Given the description of an element on the screen output the (x, y) to click on. 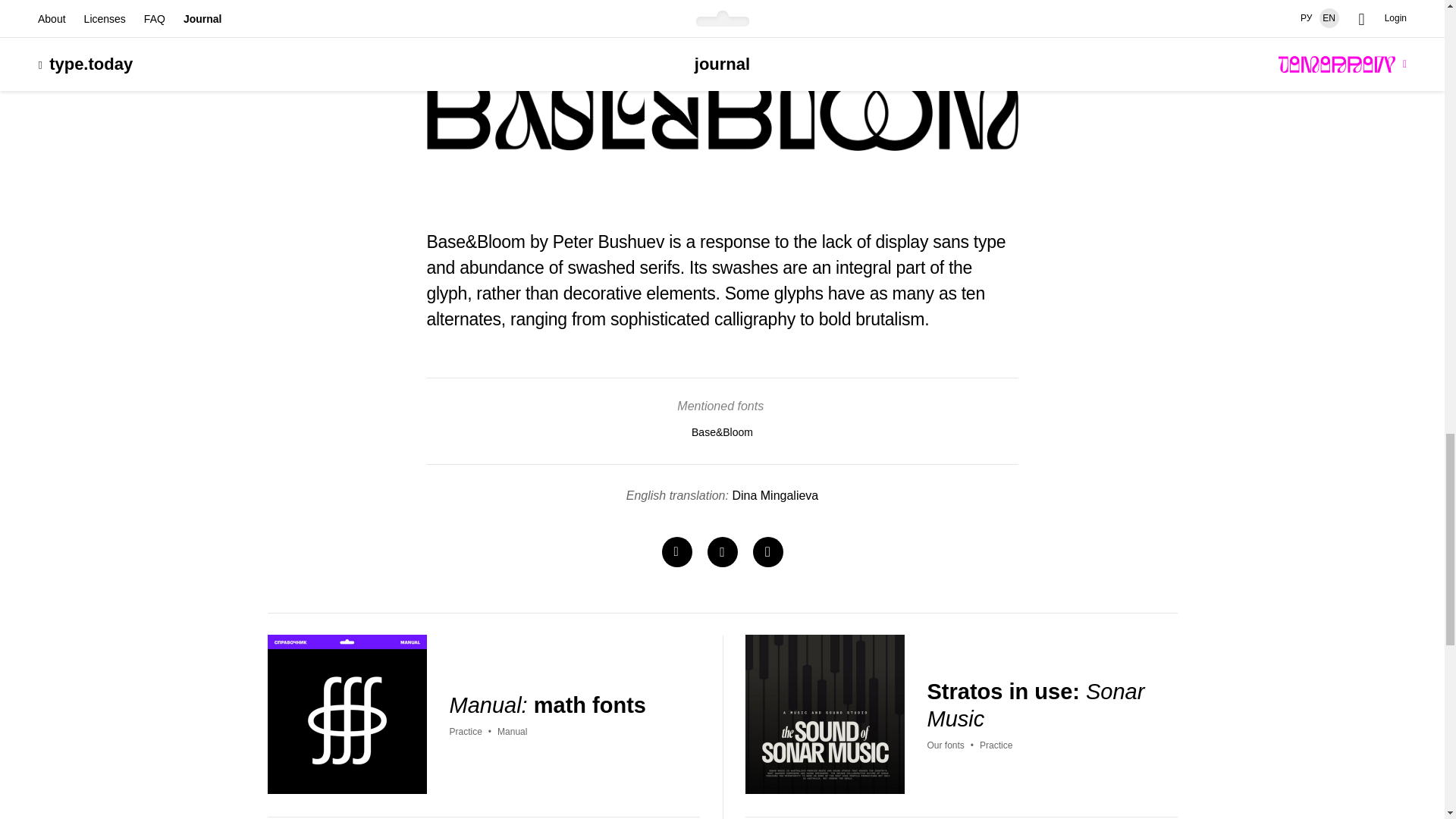
Manual: math fonts (546, 708)
Peter Bushuev (608, 241)
Stratos in use: Sonar Music (1043, 709)
